Given the description of an element on the screen output the (x, y) to click on. 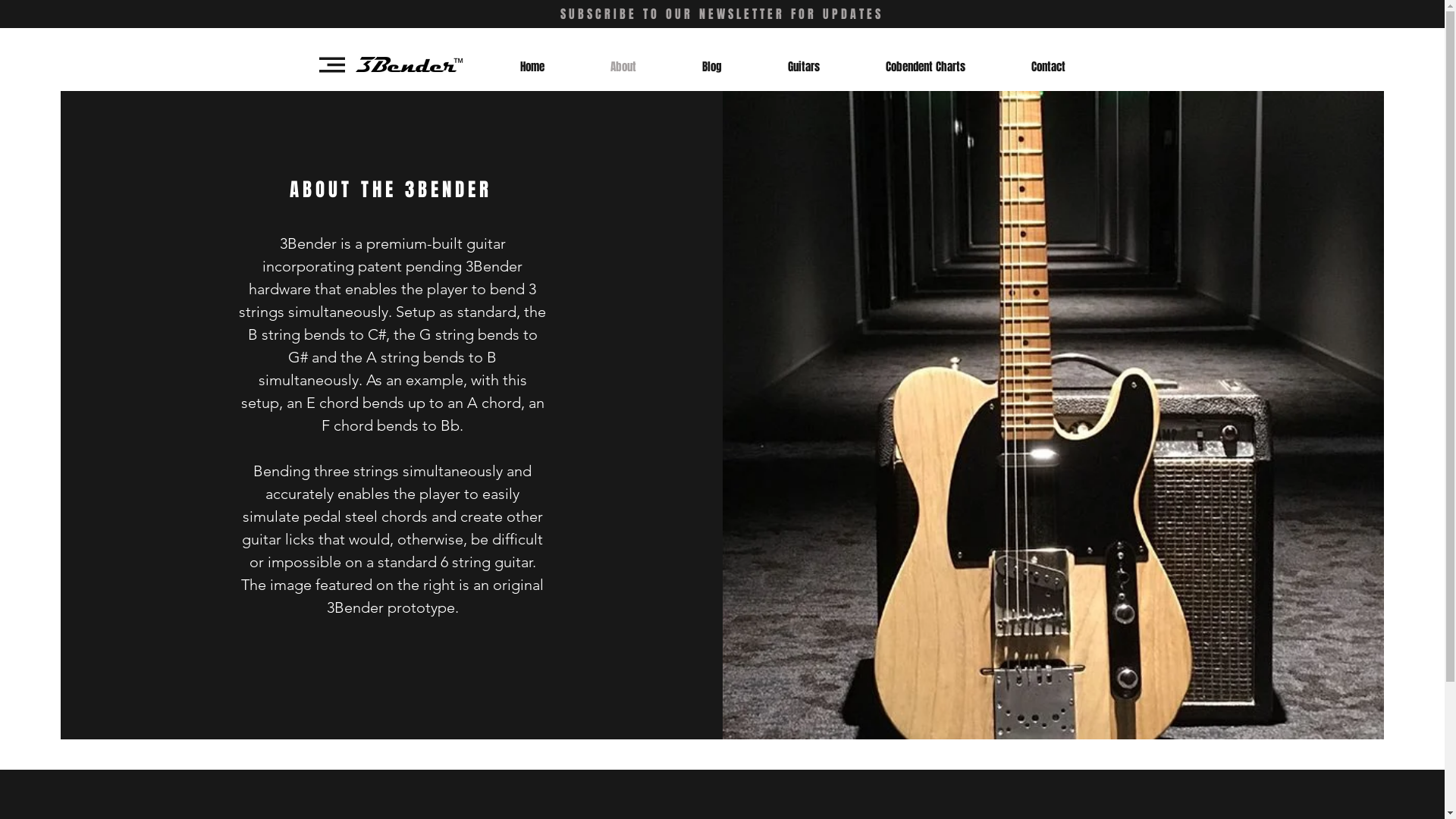
About Element type: text (623, 66)
SUBSCRIBE TO OUR NEWSLETTER FOR UPDATES Element type: text (720, 13)
Guitars Element type: text (804, 66)
Cobendent Charts Element type: text (924, 66)
Blog Element type: text (711, 66)
Home Element type: text (531, 66)
Contact Element type: text (1047, 66)
